Given the description of an element on the screen output the (x, y) to click on. 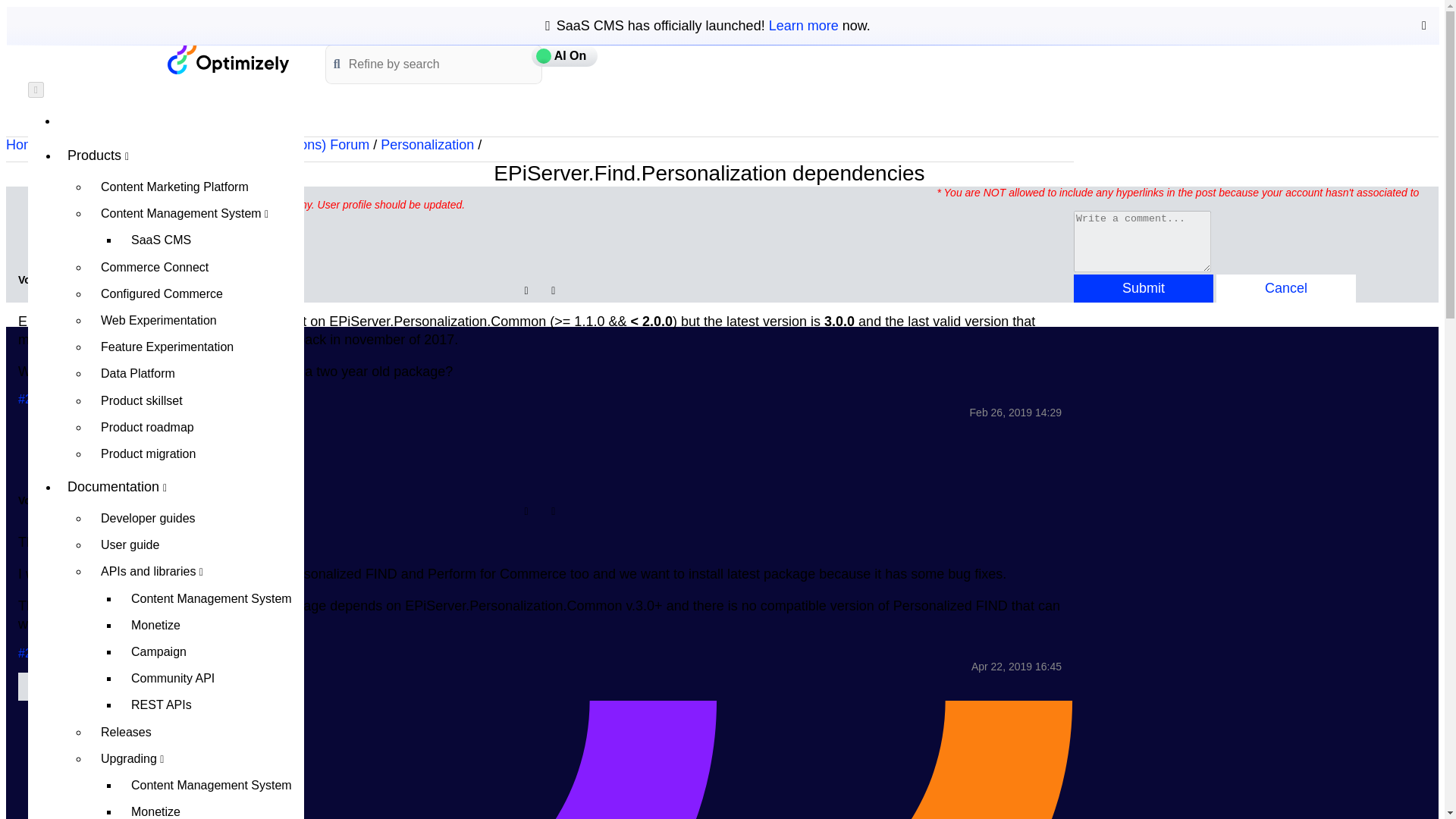
Campaign (211, 651)
Monetize (211, 624)
Viktor Bergman Talani (54, 222)
Releases (196, 732)
REST APIs (211, 704)
SaaS CMS (211, 239)
Documentation (181, 486)
Islam Hamed (54, 442)
Learn more (803, 25)
Content Management System (211, 598)
Data Platform (196, 373)
Developer guides (196, 518)
Upgrading (196, 758)
Product migration (196, 453)
User guide (196, 544)
